Given the description of an element on the screen output the (x, y) to click on. 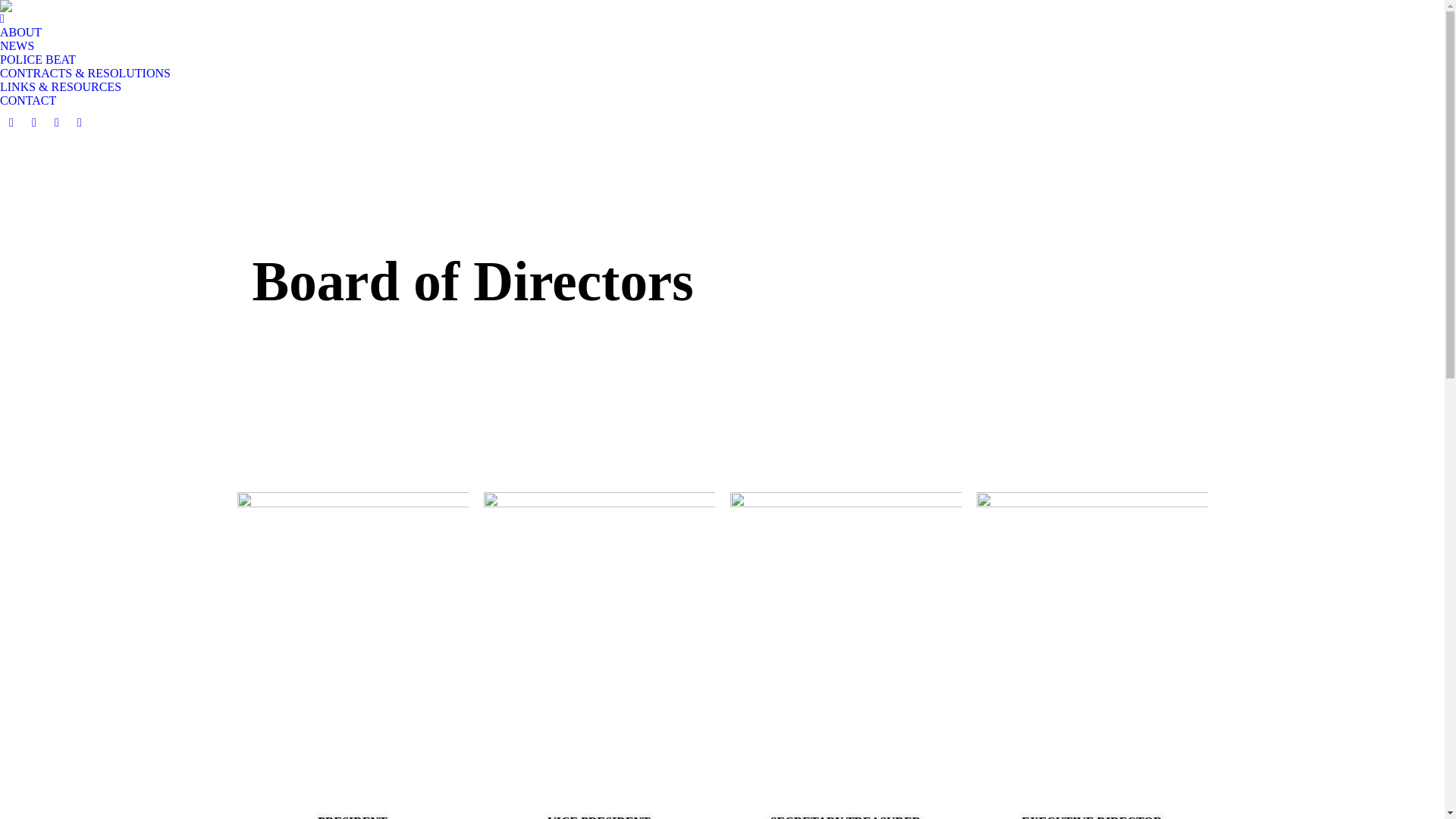
LINKS & RESOURCES Element type: text (60, 87)
CONTRACTS & RESOLUTIONS Element type: text (85, 73)
Instagram page opens in new window Element type: hover (79, 122)
POLICE BEAT Element type: text (37, 59)
Facebook page opens in new window Element type: hover (11, 122)
CONTACT Element type: text (28, 100)
NEWS Element type: text (17, 46)
ABOUT Element type: text (20, 25)
Behance page opens in new window Element type: hover (56, 122)
Twitter page opens in new window Element type: hover (33, 122)
